Given the description of an element on the screen output the (x, y) to click on. 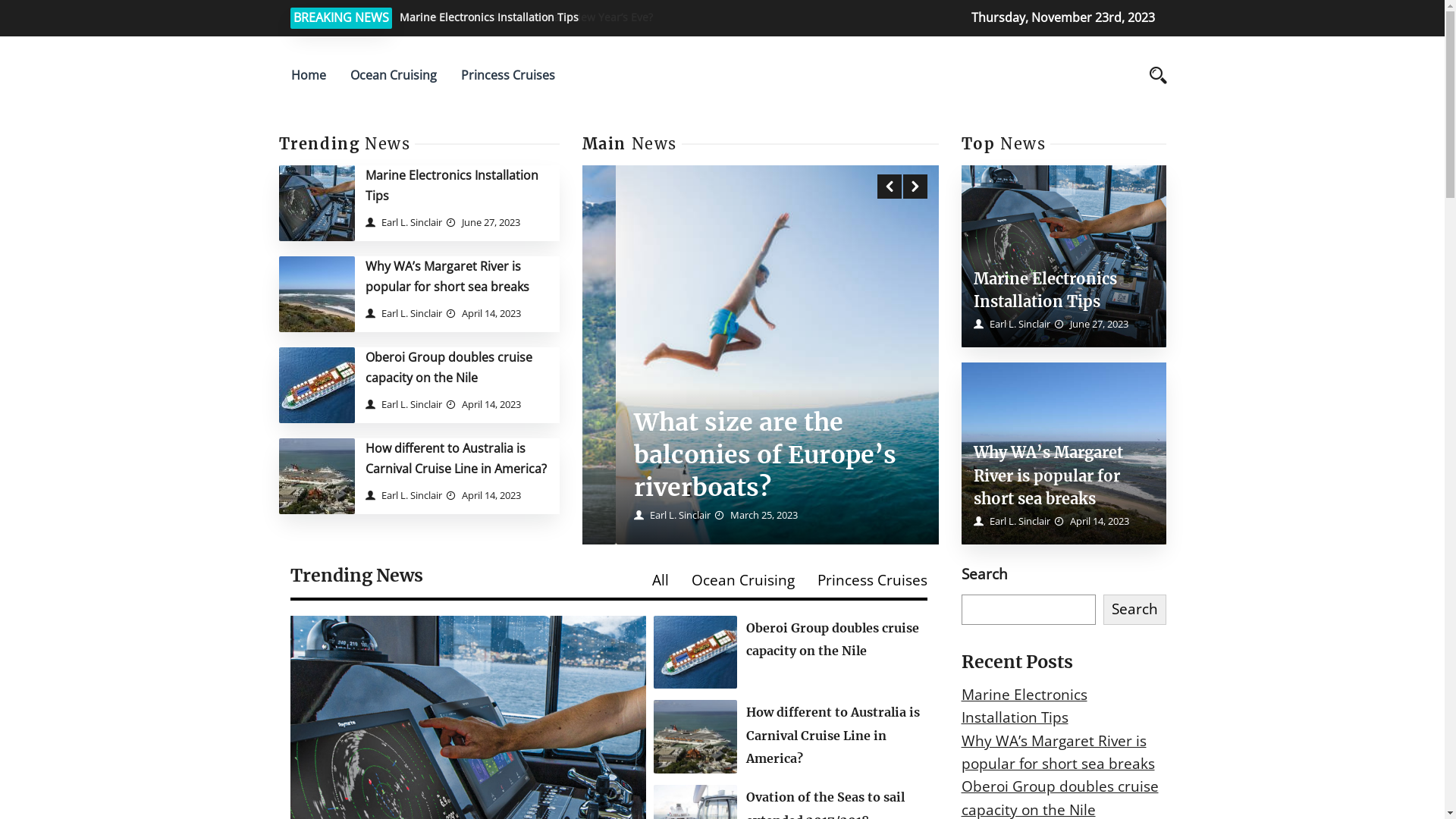
Marine Electronics Installation Tips Element type: text (1024, 705)
Princess Cruises Element type: text (507, 75)
Marine Electronics Installation Tips Element type: text (451, 184)
Oberoi Group doubles cruise capacity on the Nile Element type: text (448, 366)
Oberoi Group doubles cruise capacity on the Nile Element type: text (832, 638)
Ocean Cruising Element type: text (393, 75)
Search Element type: text (1044, 156)
Marine Electronics Installation Tips Element type: text (1045, 290)
Ocean Cruising Element type: text (742, 579)
Search Element type: text (1133, 609)
Home Element type: text (308, 75)
All Element type: text (660, 579)
Princess Cruises Element type: text (872, 579)
Photo Gallery: Costa Luminosa Element type: text (723, 474)
